Given the description of an element on the screen output the (x, y) to click on. 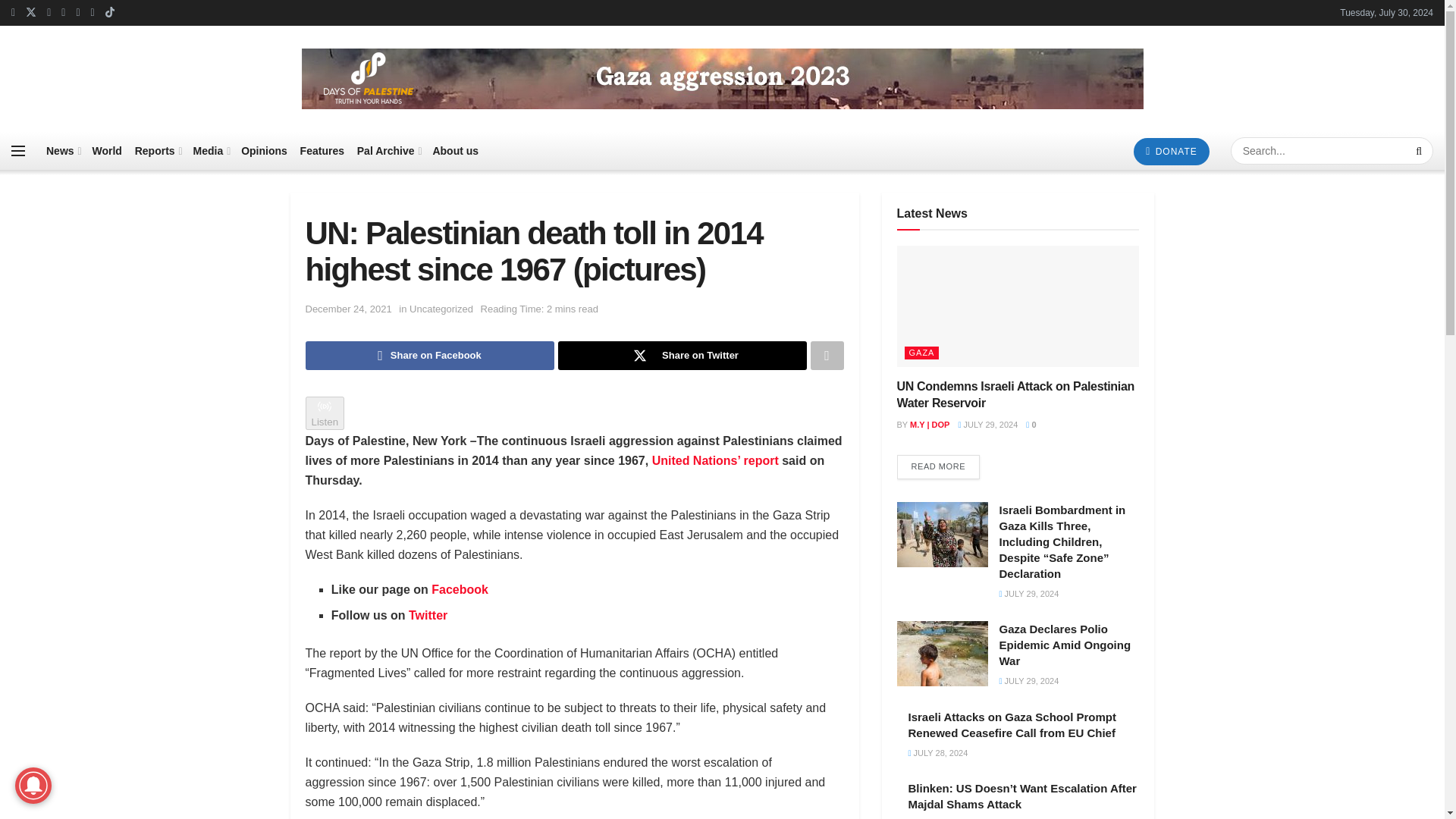
Features (321, 150)
Opinions (263, 150)
Reports (157, 150)
Media (210, 150)
Gaza Declares Polio Epidemic Amid Ongoing War 3 (941, 653)
Pal Archive (388, 150)
